Given the description of an element on the screen output the (x, y) to click on. 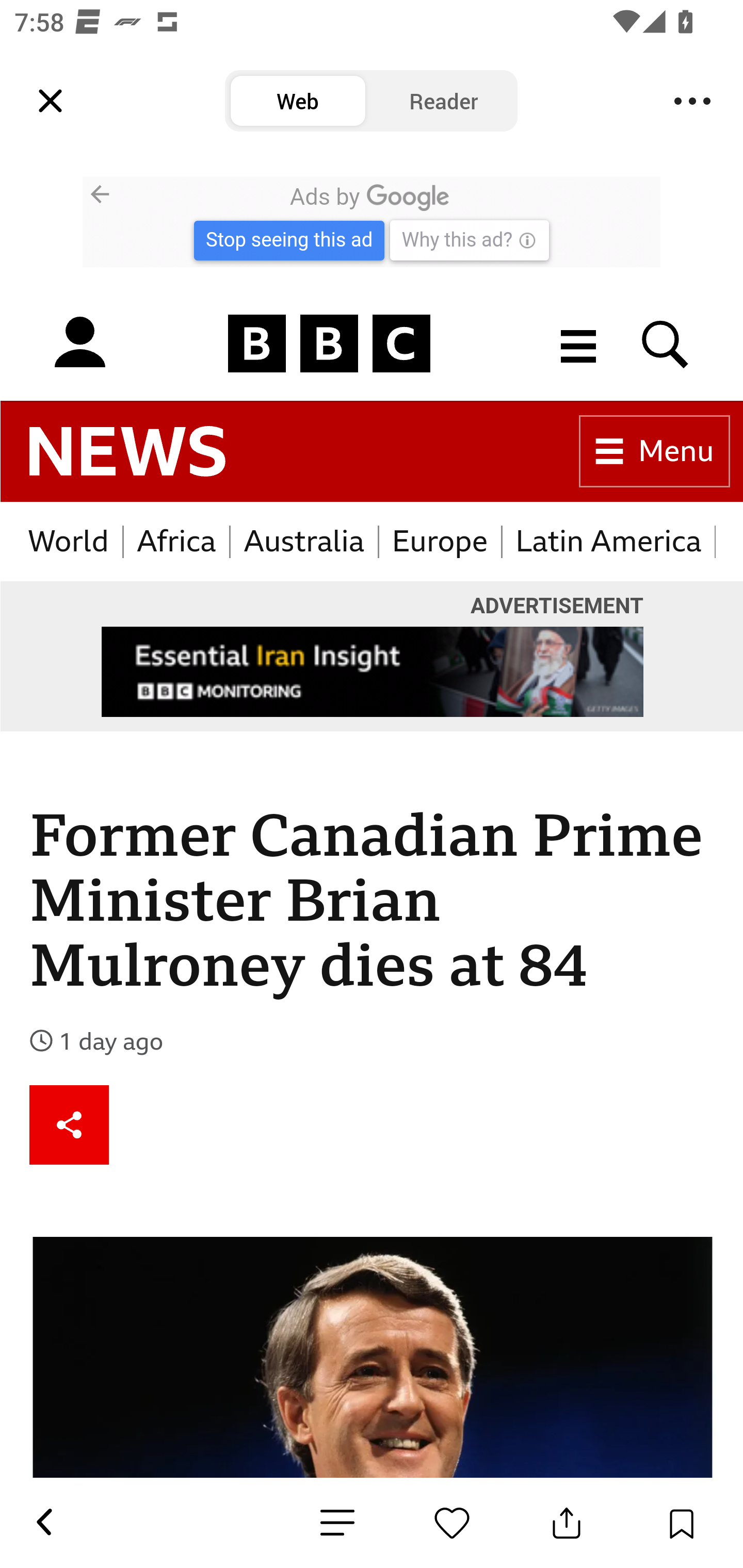
Leading Icon (50, 101)
Reader (443, 101)
Menu (692, 101)
Sign in (79, 343)
BBC Homepage (329, 343)
More menu (578, 343)
Search BBC (665, 343)
BBC News (127, 452)
Menu (654, 452)
World (69, 541)
Africa (177, 541)
Australia (304, 541)
Europe (439, 541)
Latin America (608, 541)
Share (69, 1124)
Back Button (43, 1523)
News Detail Emotion (451, 1523)
Share Button (566, 1523)
Save Button (680, 1523)
News Detail Emotion (337, 1523)
